Given the description of an element on the screen output the (x, y) to click on. 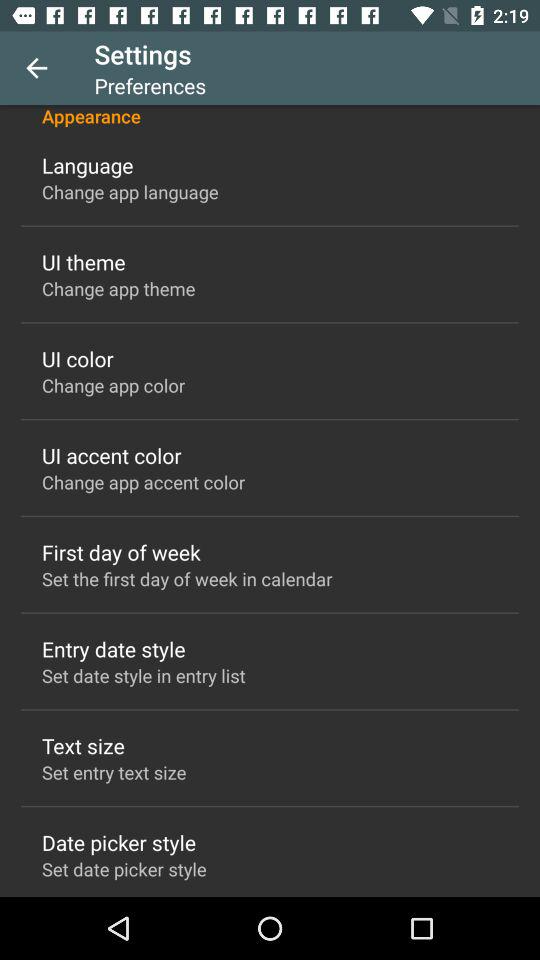
launch the ui theme icon (83, 261)
